Given the description of an element on the screen output the (x, y) to click on. 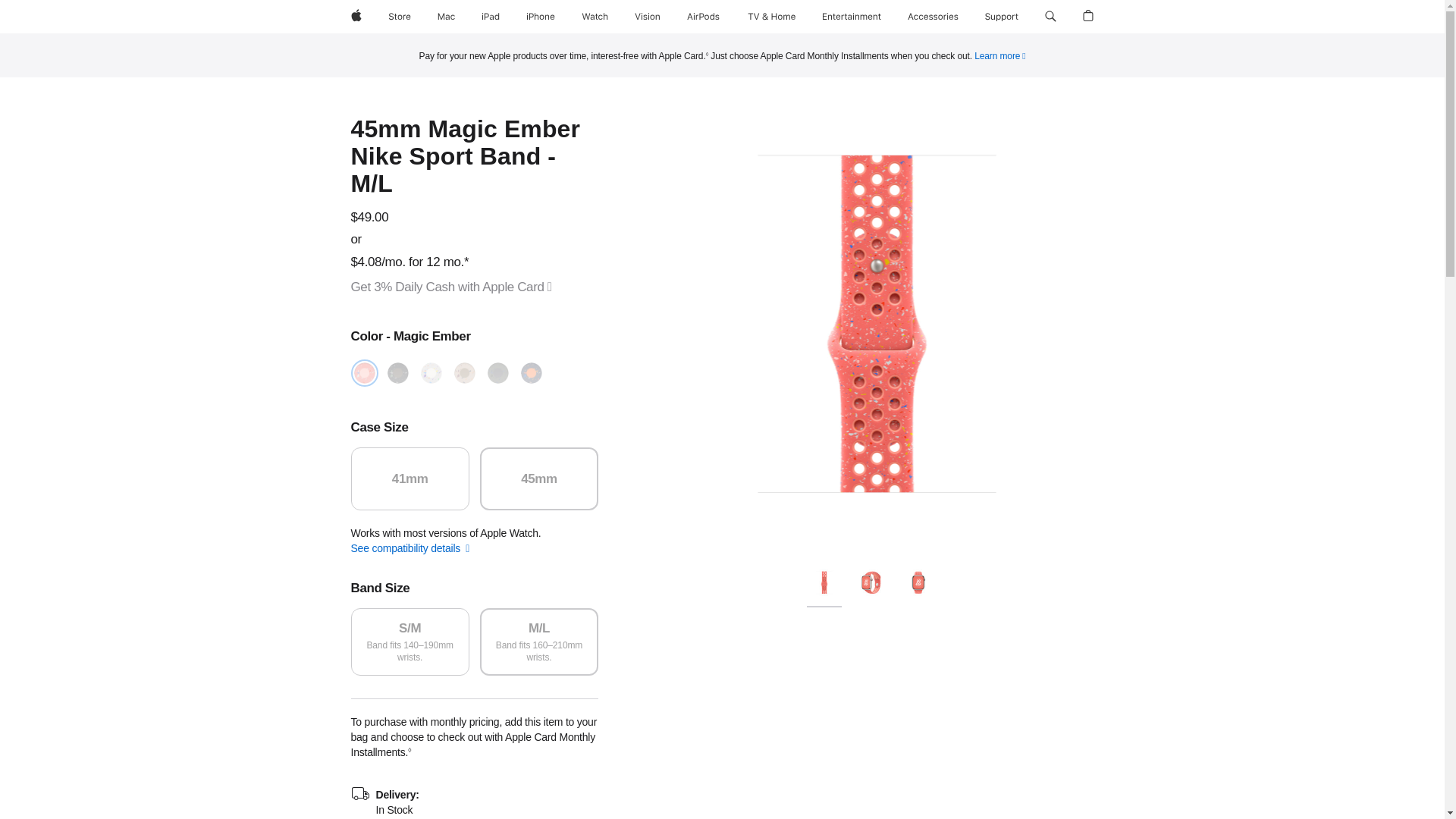
Store (398, 16)
